Given the description of an element on the screen output the (x, y) to click on. 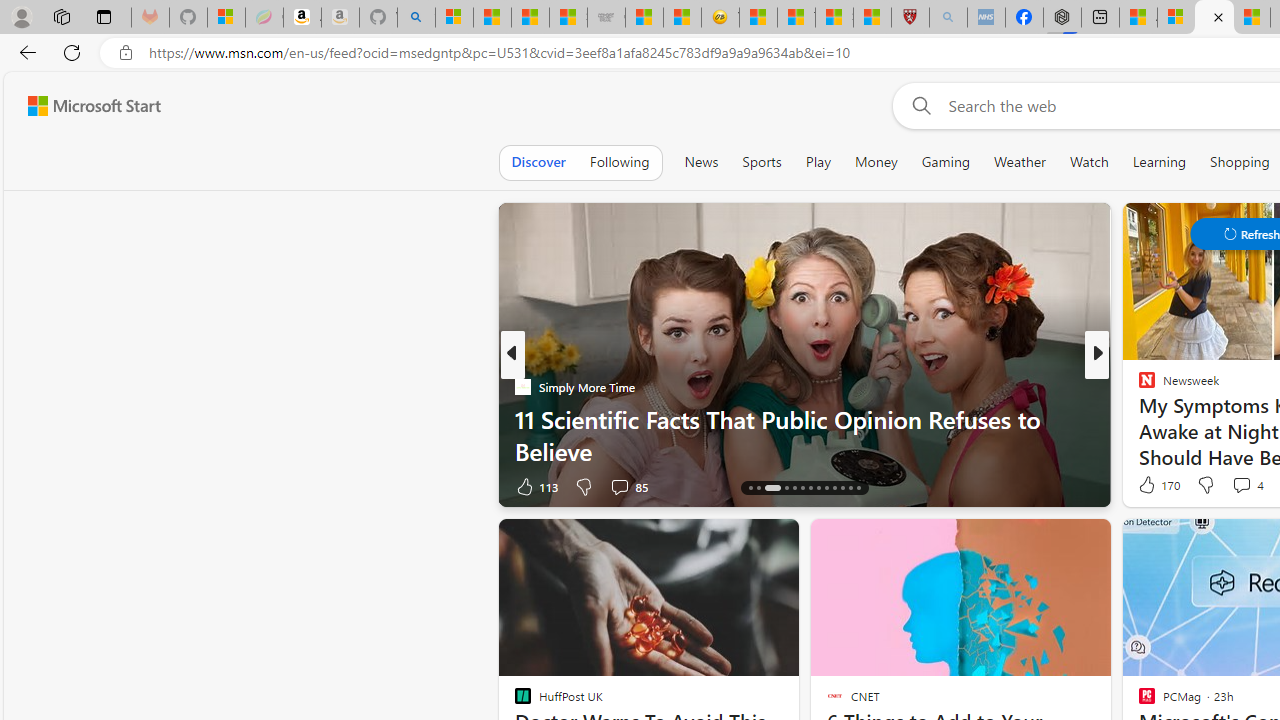
76 Like (1149, 486)
View comments 85 Comment (628, 486)
113 Like (535, 486)
Popular Mechanics (1138, 386)
11 Scientific Facts That Public Opinion Refuses to Believe (804, 435)
Newsweek (1138, 386)
The Independent (1138, 386)
